Given the description of an element on the screen output the (x, y) to click on. 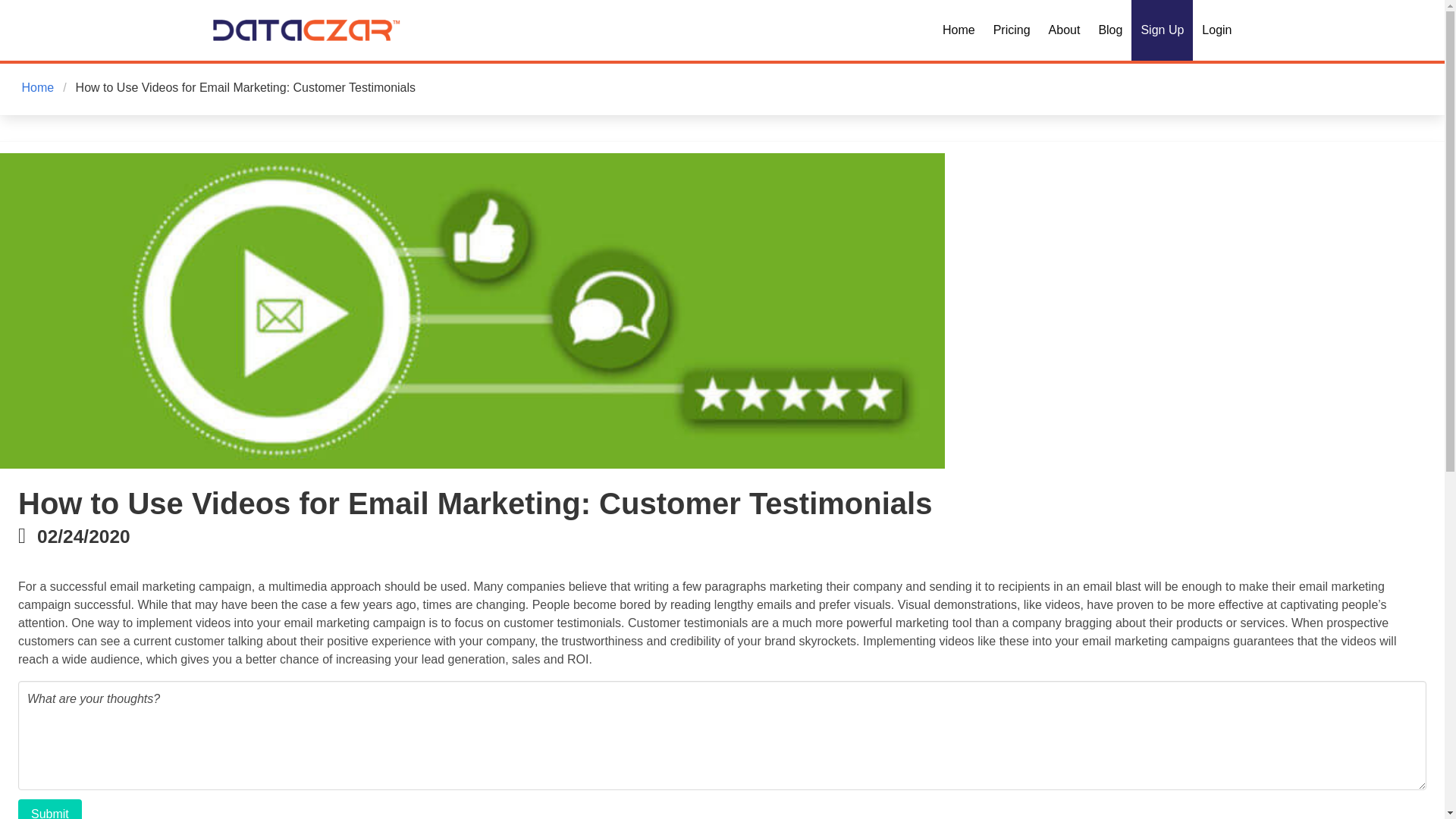
Submit (49, 809)
 Home (39, 87)
Pricing (1011, 30)
How to Use Videos for Email Marketing: Customer Testimonials (245, 87)
Sign Up (1161, 30)
